Given the description of an element on the screen output the (x, y) to click on. 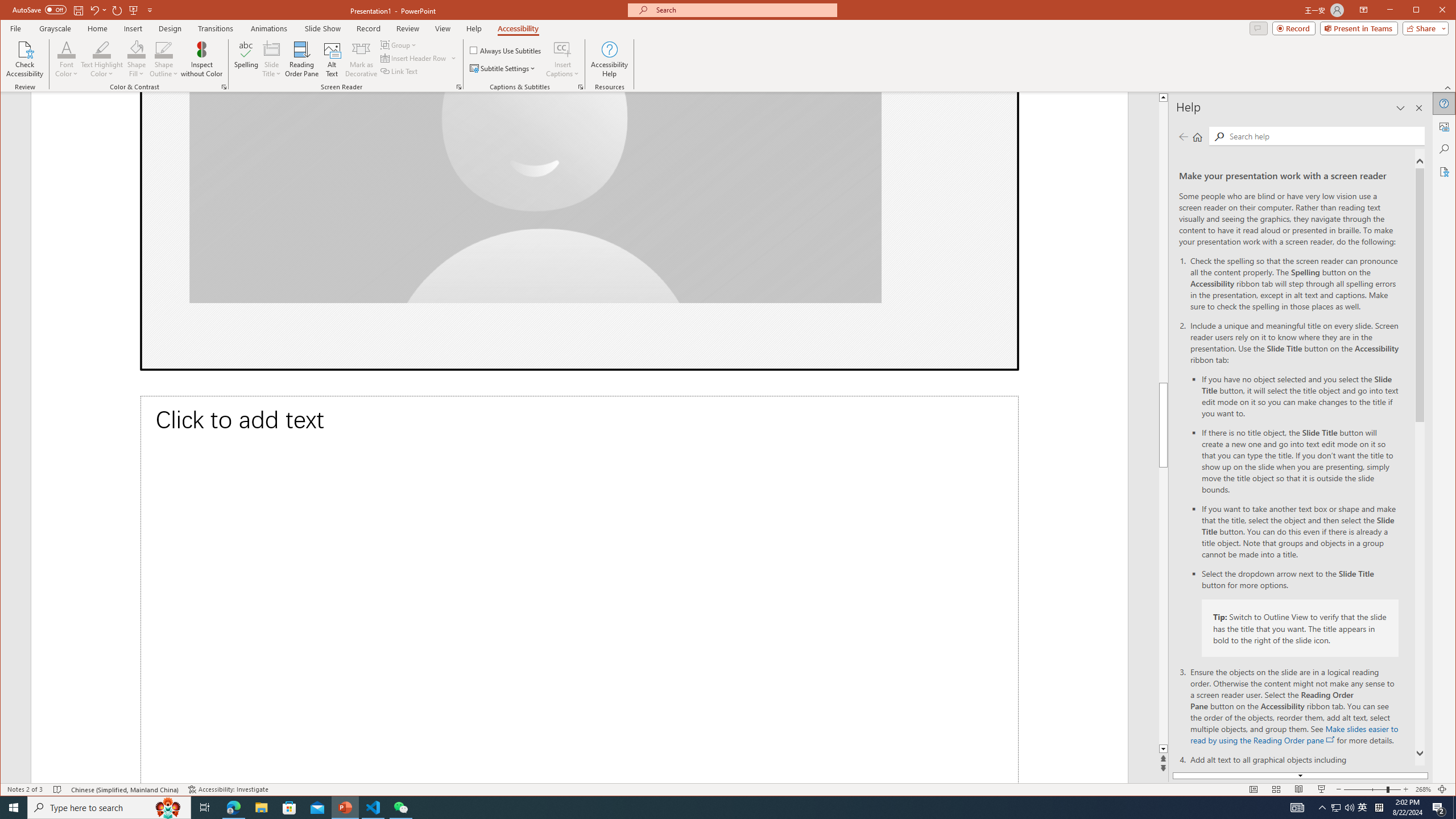
WeChat - 1 running window (400, 807)
Class: MsoCommandBar (728, 789)
Slide Notes (579, 588)
